Given the description of an element on the screen output the (x, y) to click on. 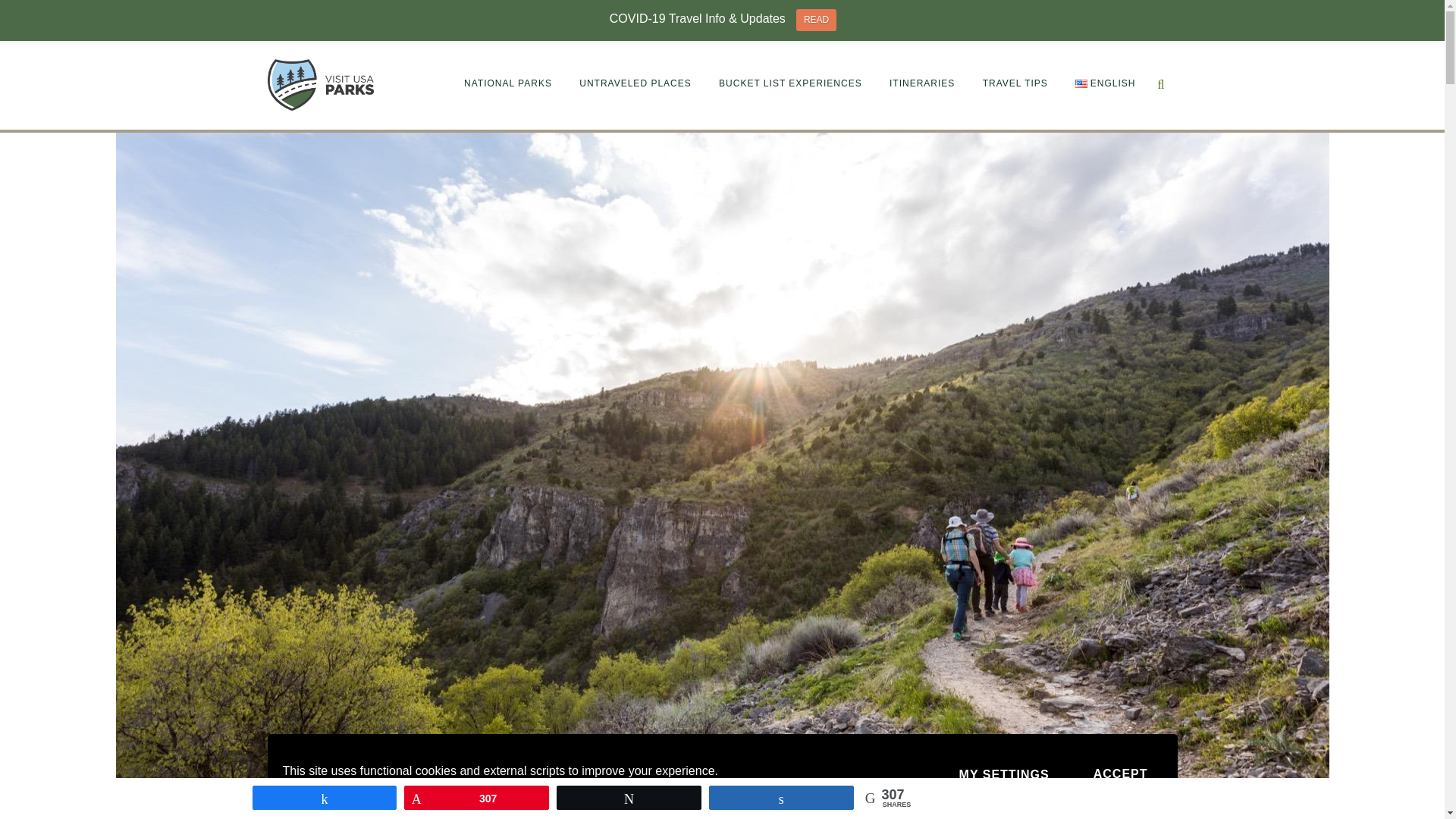
UNTRAVELED PLACES (635, 83)
ENGLISH (1104, 83)
NATIONAL PARKS (507, 83)
ACCEPT (1119, 774)
TRAVEL TIPS (1015, 83)
ITINERARIES (921, 83)
BUCKET LIST EXPERIENCES (790, 83)
VISIT USA PARKS (315, 90)
MY SETTINGS (1004, 774)
